Given the description of an element on the screen output the (x, y) to click on. 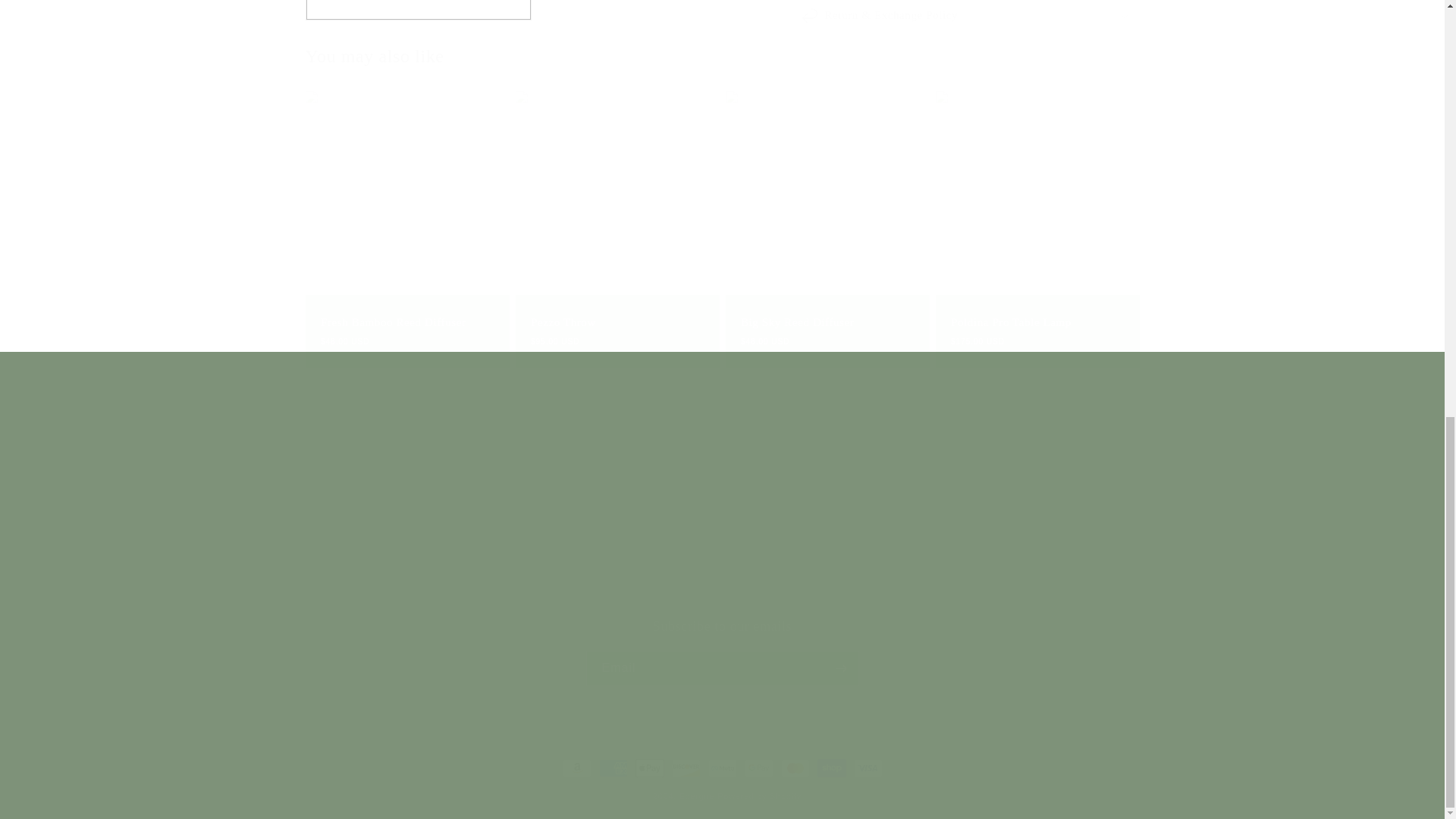
Call us (907, 564)
Email us (721, 652)
